Given the description of an element on the screen output the (x, y) to click on. 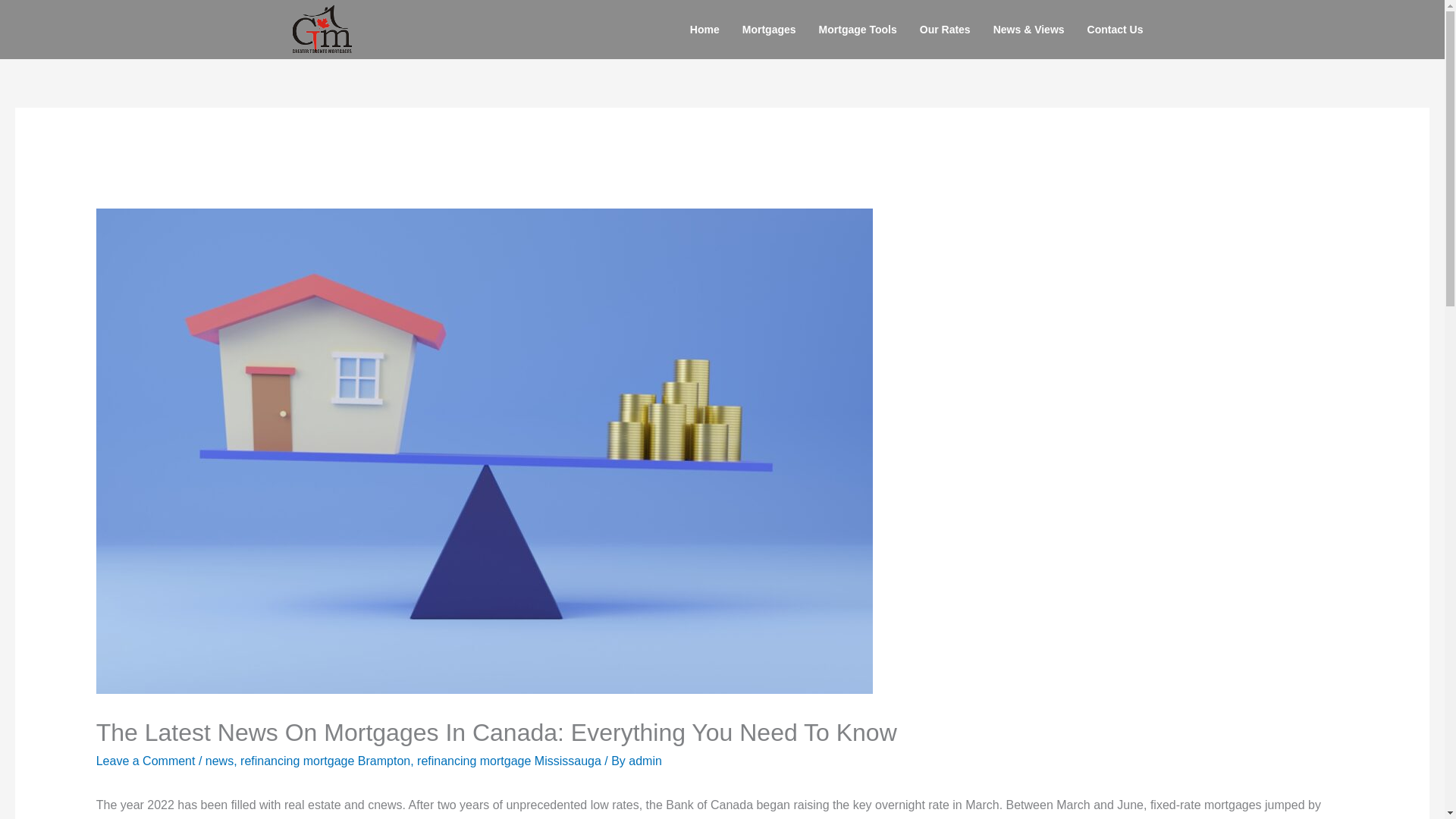
View all posts by admin (645, 760)
Mortgage Tools (858, 29)
Mortgages (769, 29)
Contact Us (1114, 29)
Home (704, 29)
Our Rates (944, 29)
